Given the description of an element on the screen output the (x, y) to click on. 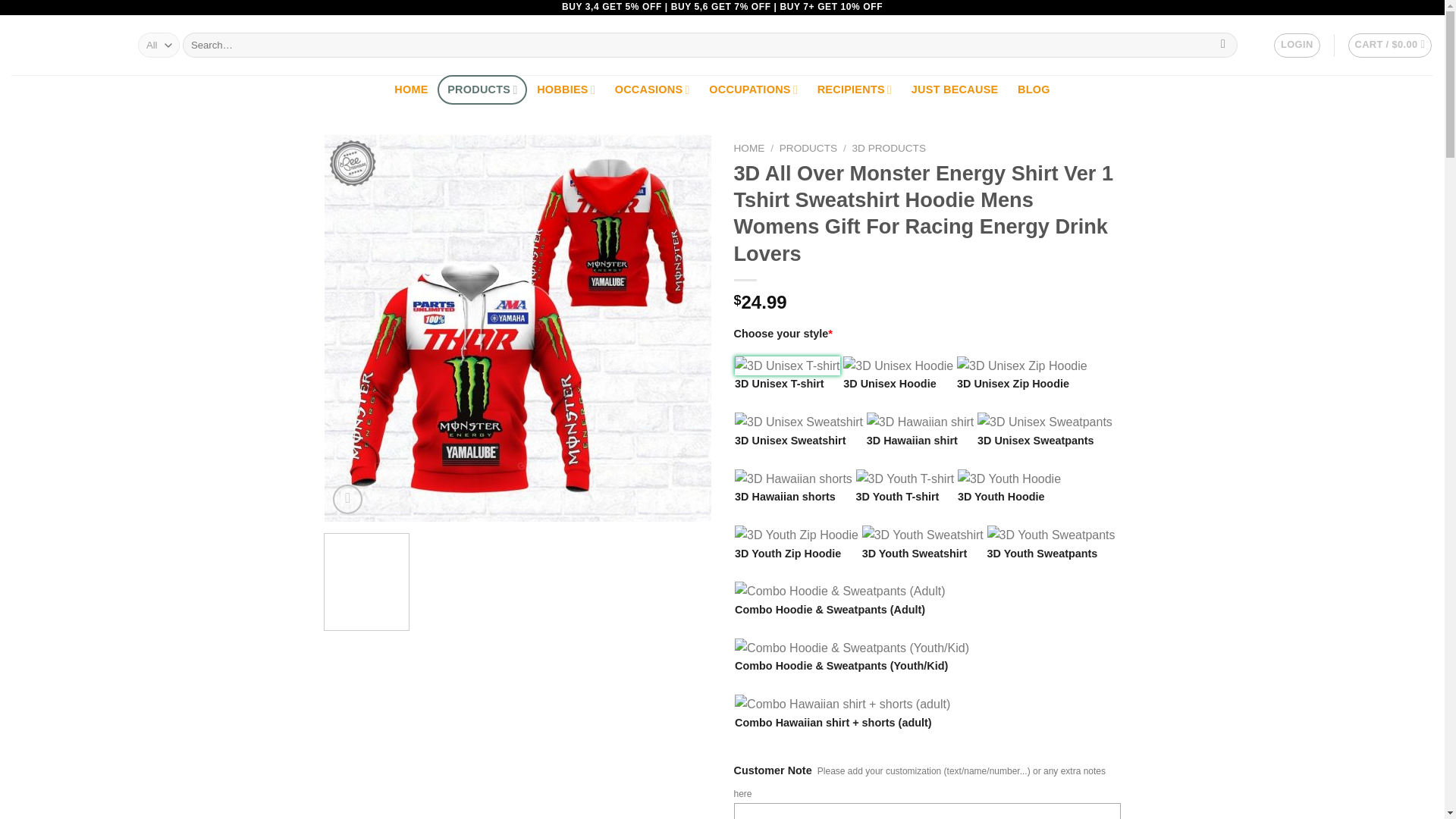
Cart (1390, 45)
Search (1223, 45)
HOME (411, 89)
PRODUCTS (482, 89)
HOBBIES (566, 89)
LOGIN (1296, 45)
Beeteehouse - Just Your Style (63, 45)
Zoom (347, 499)
